Given the description of an element on the screen output the (x, y) to click on. 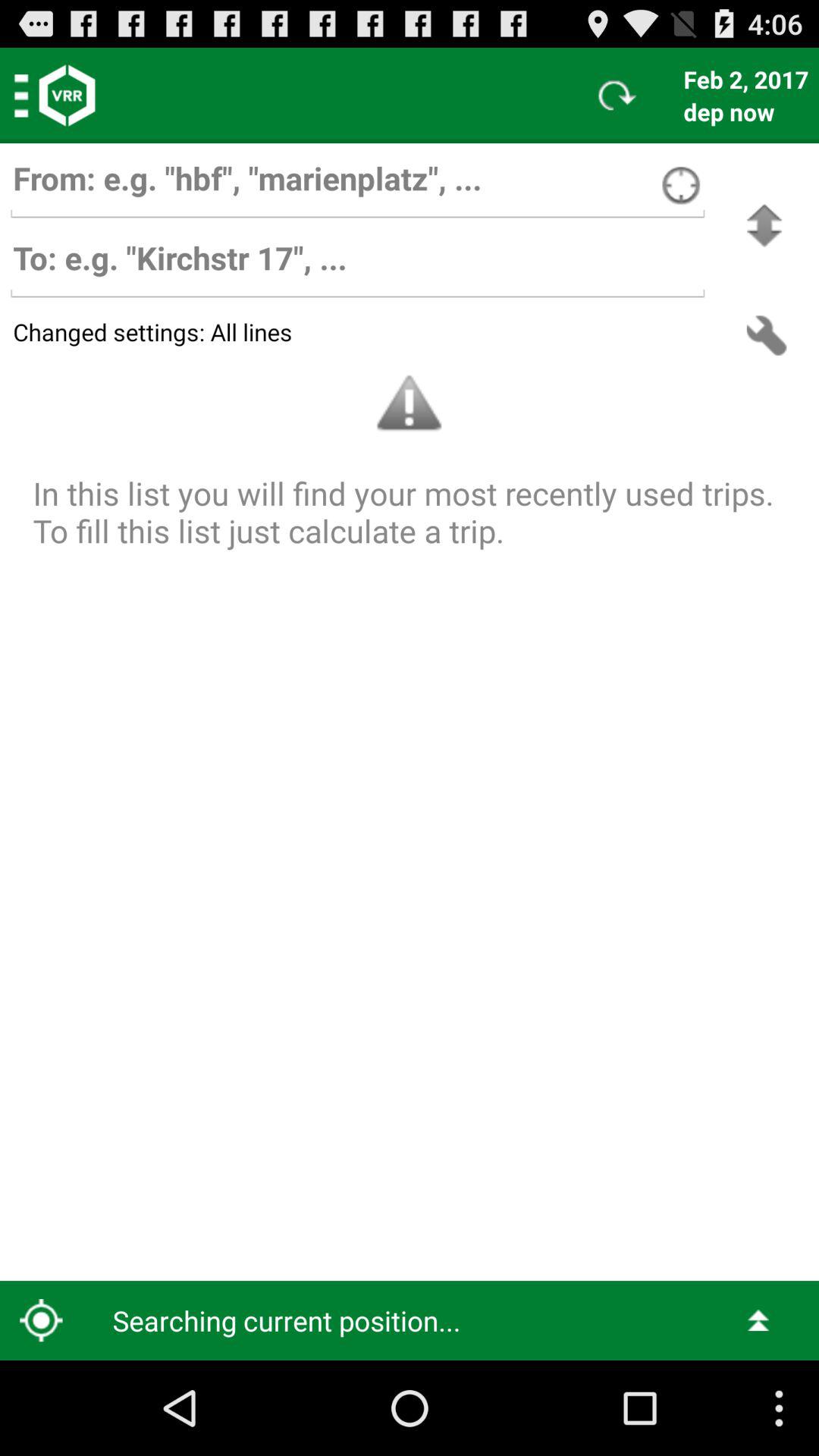
select the icon above the changed settings all item (764, 225)
